Given the description of an element on the screen output the (x, y) to click on. 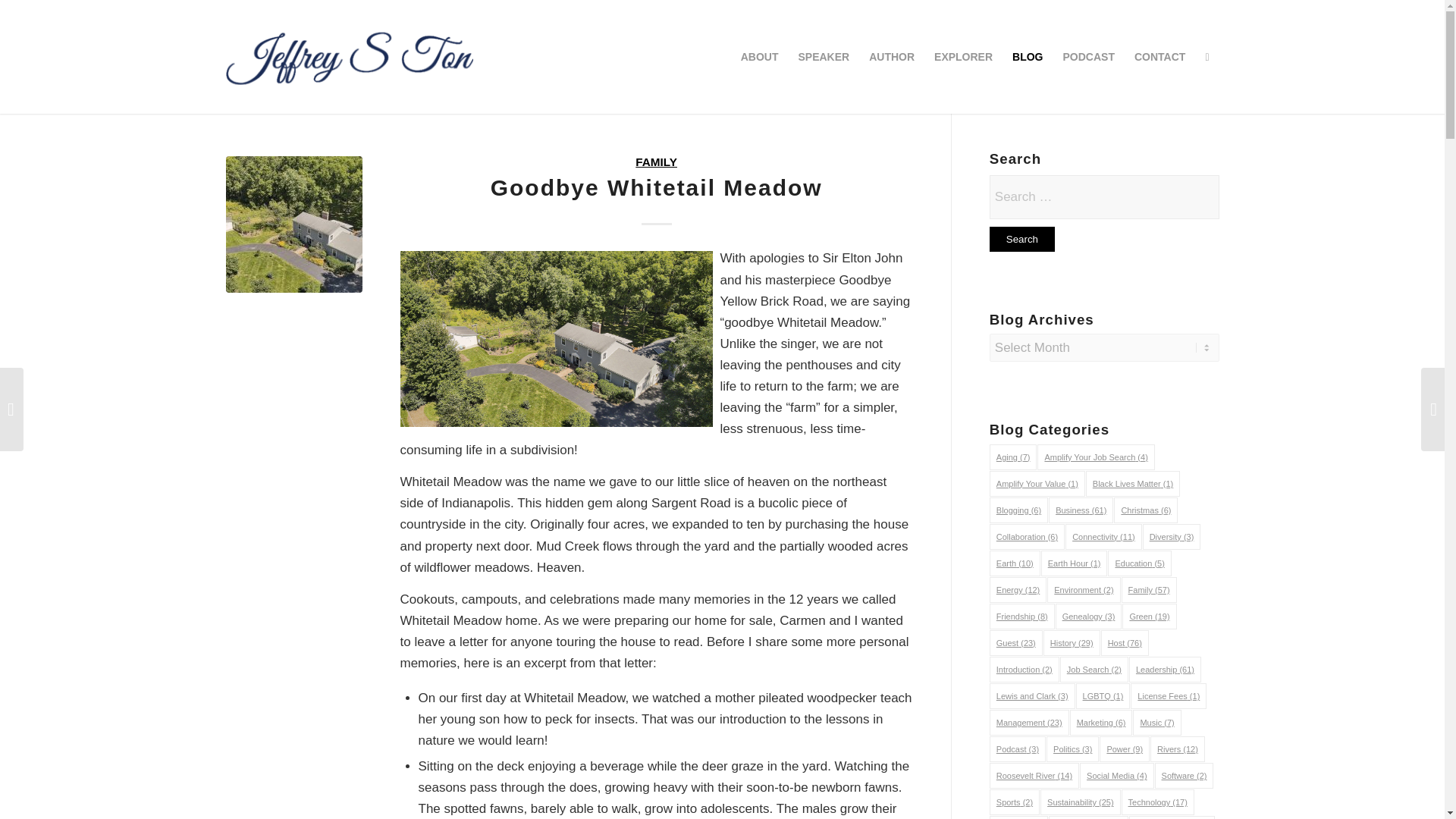
FAMILY (655, 161)
Search (1022, 238)
Search (1022, 238)
Search (1022, 238)
default (293, 224)
